Given the description of an element on the screen output the (x, y) to click on. 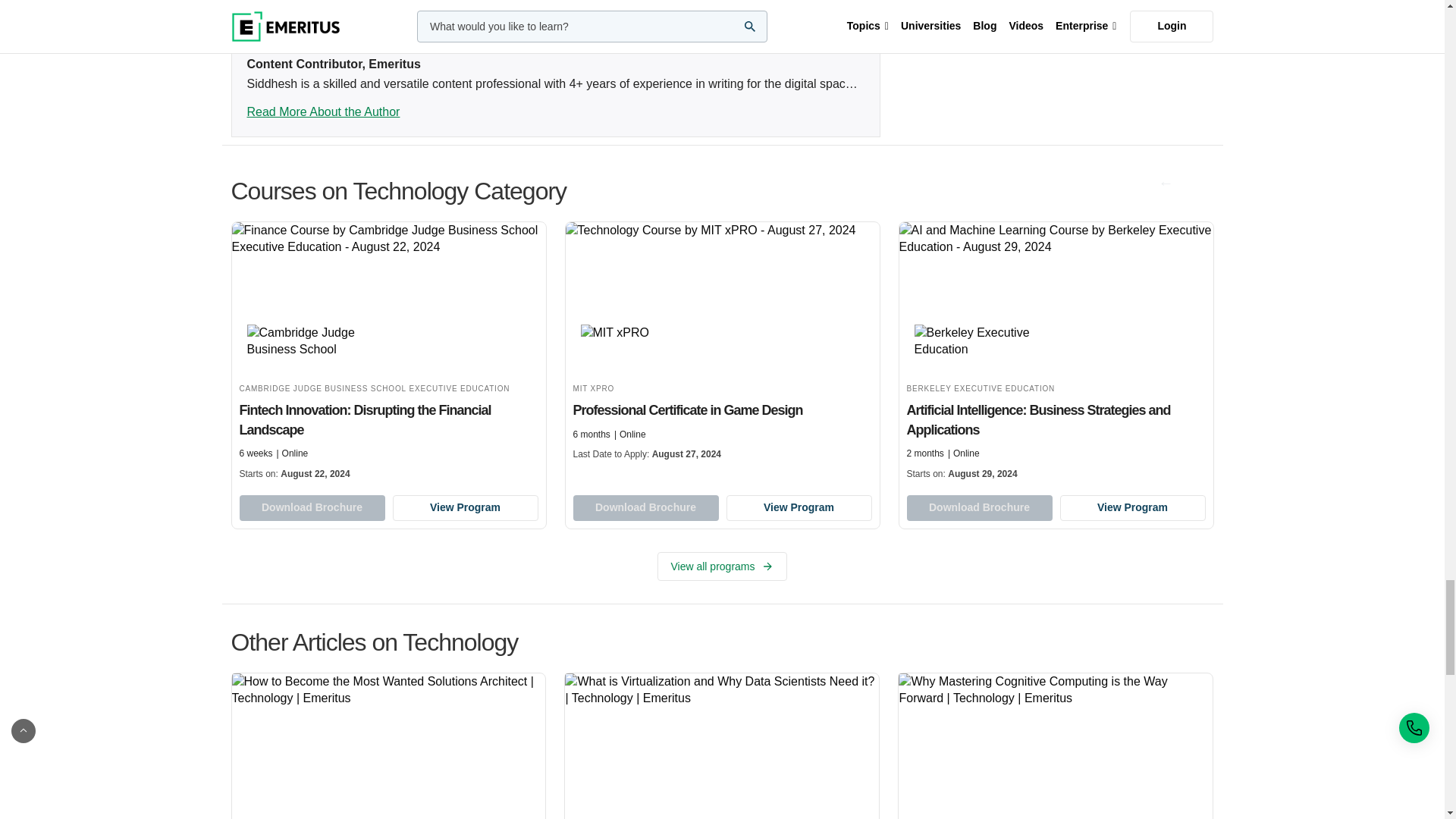
Professional Certificate in Game Design (722, 345)
Cambridge Judge Business School Executive Education (312, 341)
FinTech Innovation: Disrupting the Financial Landscape (388, 354)
Berkeley Executive Education (980, 341)
MIT xPRO (646, 341)
